Given the description of an element on the screen output the (x, y) to click on. 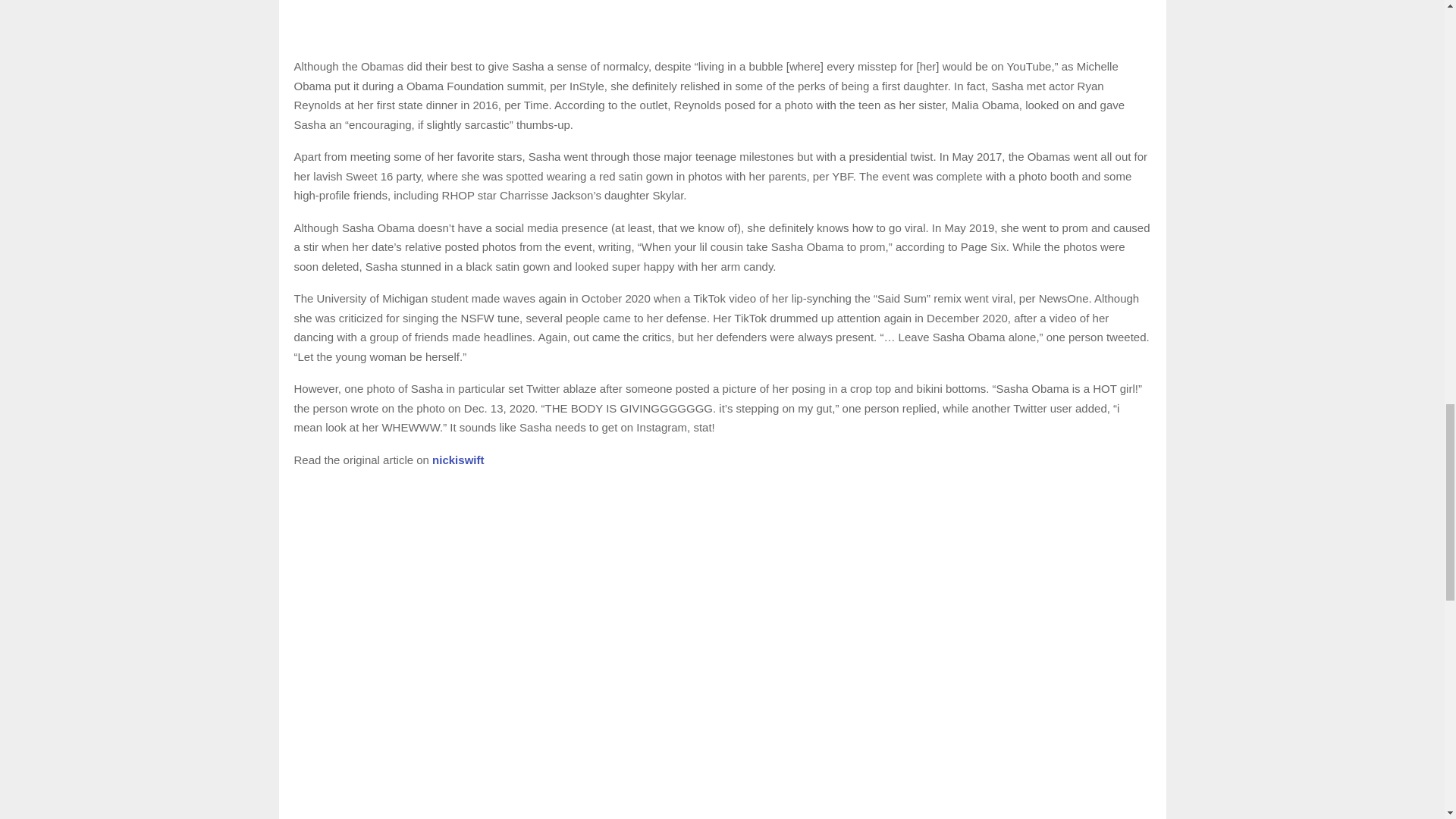
nickiswift (457, 459)
